Given the description of an element on the screen output the (x, y) to click on. 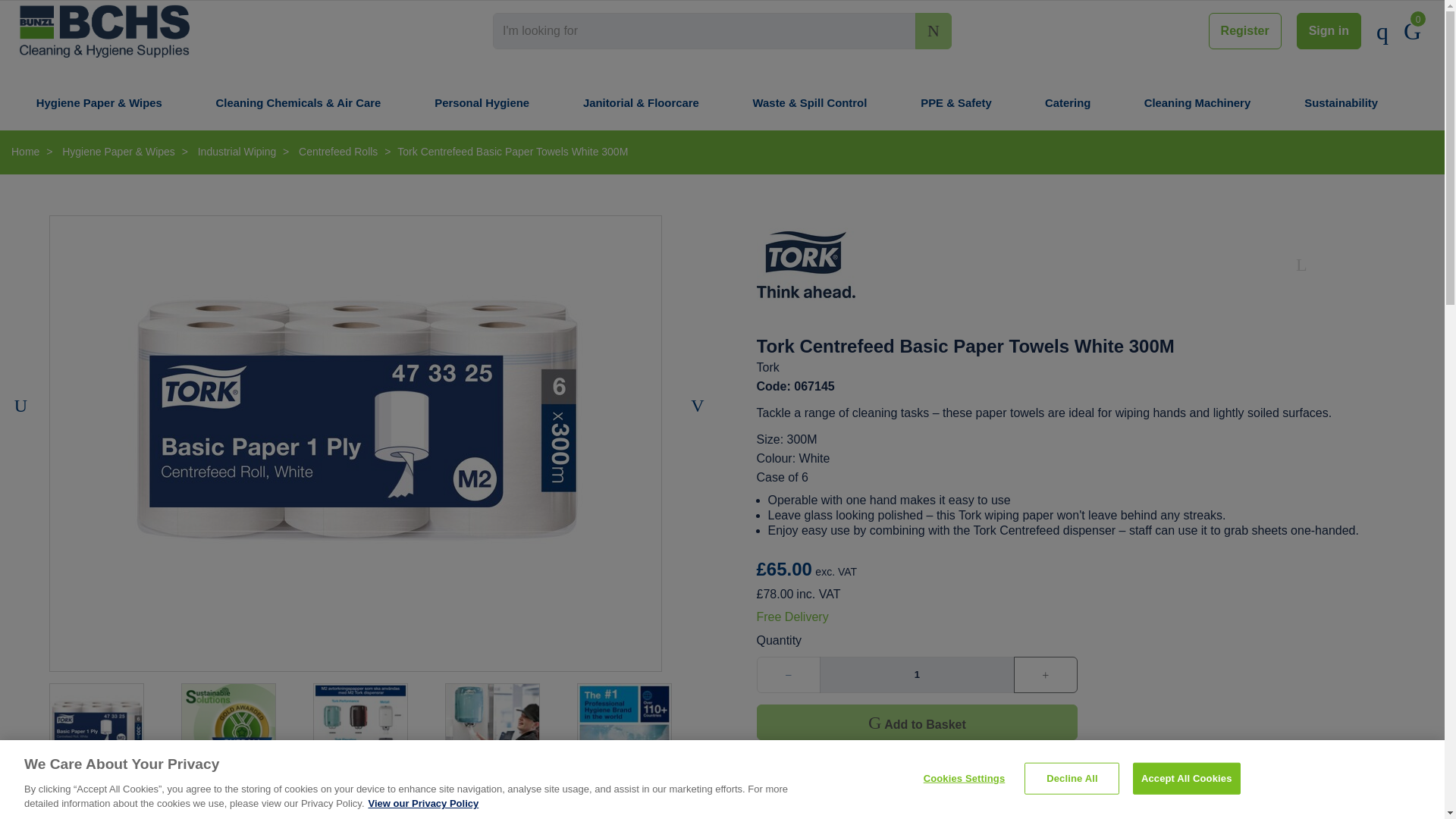
Sign in (1329, 31)
1 (916, 674)
Register (1244, 31)
